Given the description of an element on the screen output the (x, y) to click on. 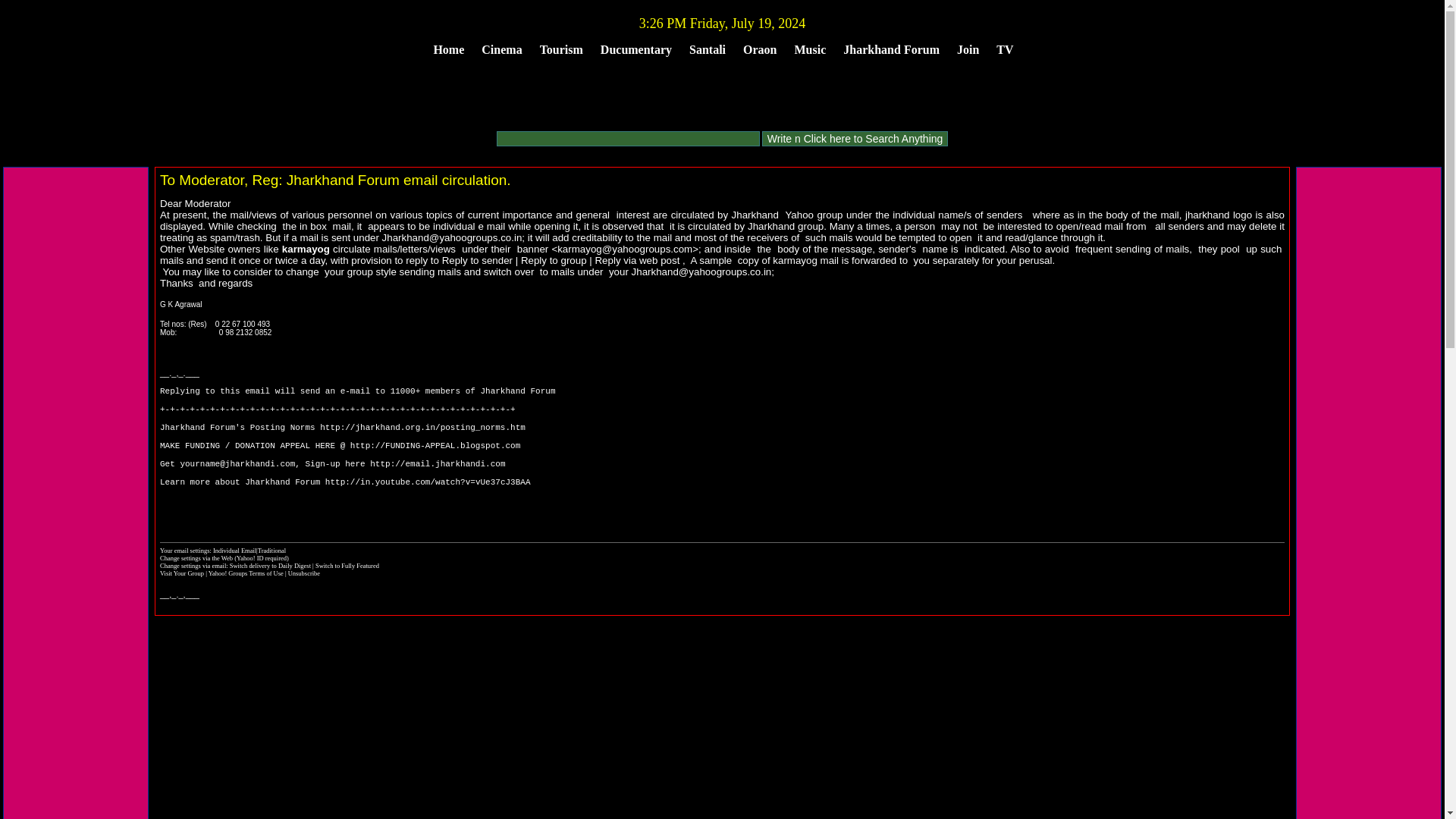
Home (448, 49)
Oraon (759, 49)
Write n Click here to Search Anything (855, 138)
Ducumentary (636, 49)
Tourism (561, 49)
Join (967, 49)
Cinema (501, 49)
Santali (707, 49)
TV (1004, 49)
Write n Click here to Search Anything (855, 138)
Music (810, 49)
Jharkhand Forum (890, 49)
